Given the description of an element on the screen output the (x, y) to click on. 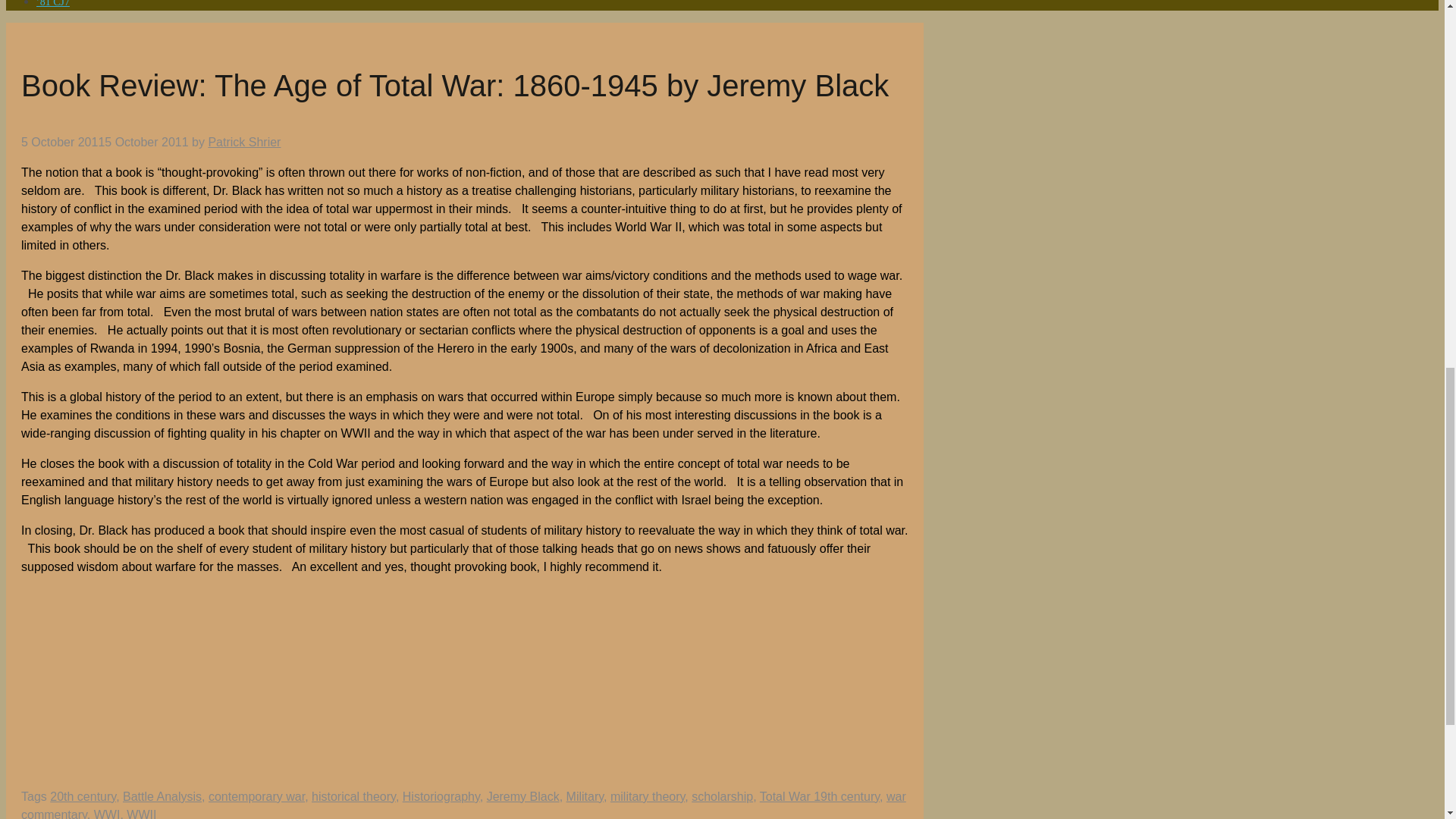
Patrick Shrier (244, 141)
View all posts by Patrick Shrier (244, 141)
contemporary war (256, 796)
20th century (82, 796)
Battle Analysis (162, 796)
